Given the description of an element on the screen output the (x, y) to click on. 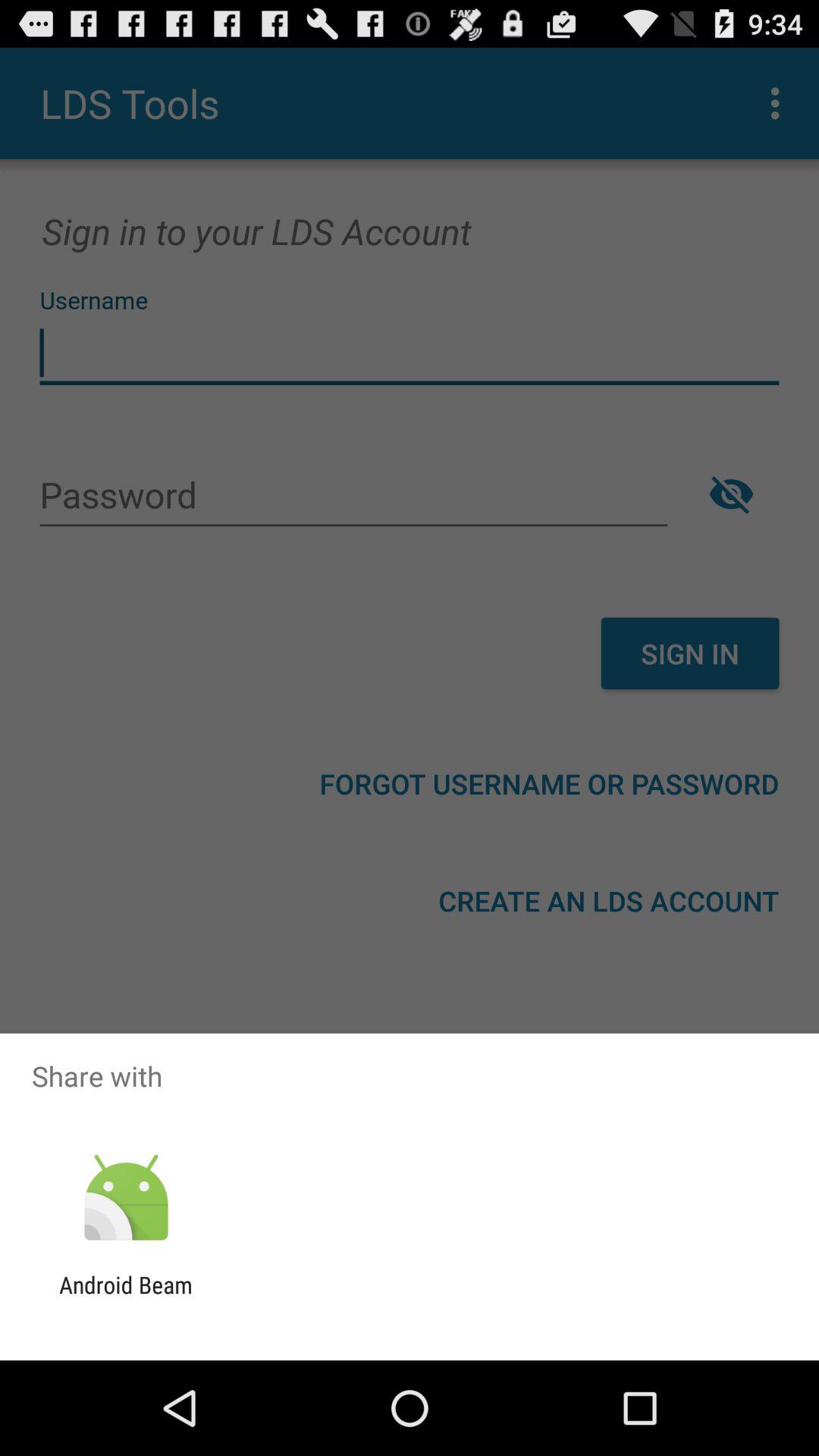
press the app below share with (126, 1198)
